Given the description of an element on the screen output the (x, y) to click on. 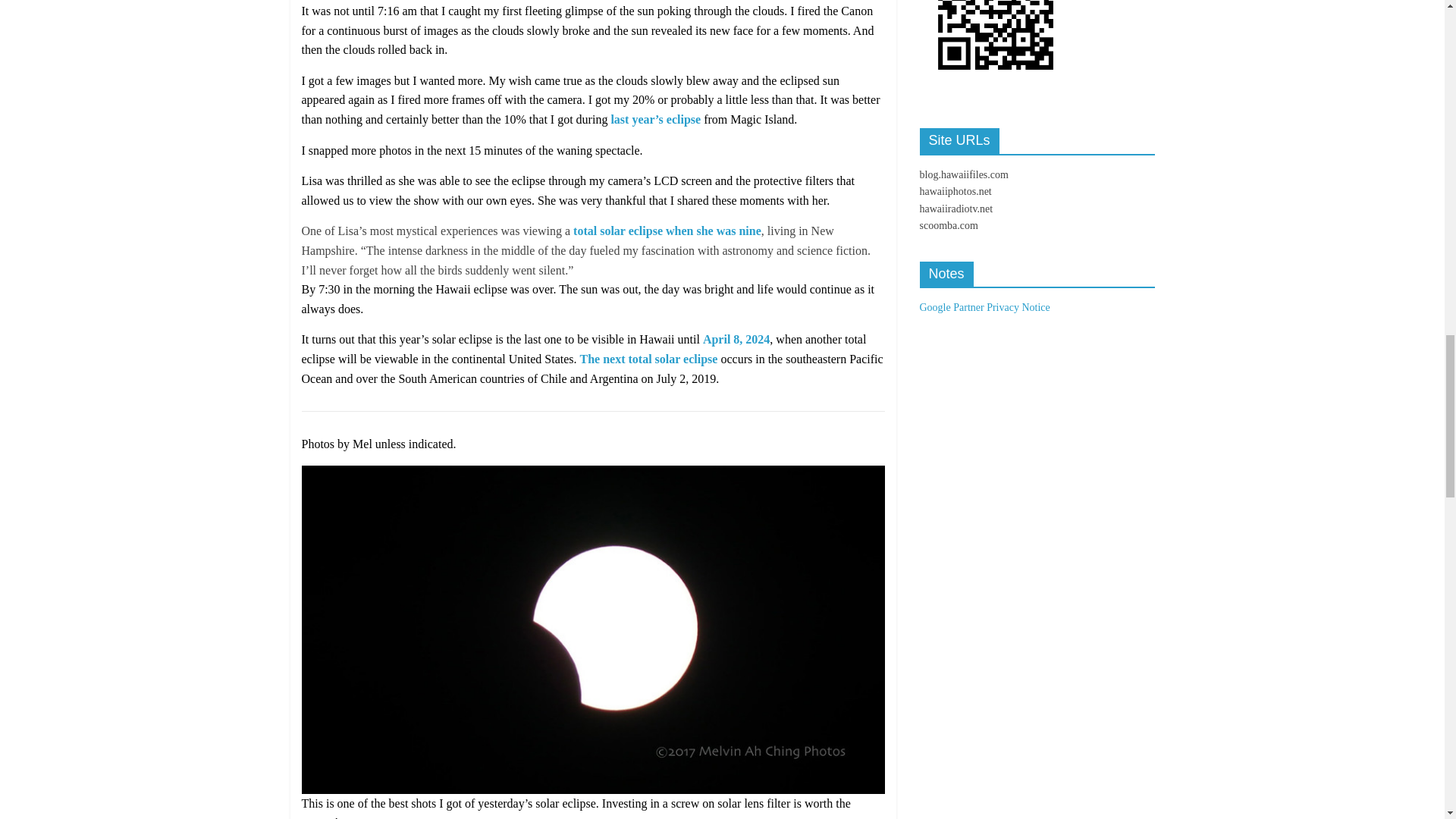
Today's Solare Eclipse (593, 474)
